Given the description of an element on the screen output the (x, y) to click on. 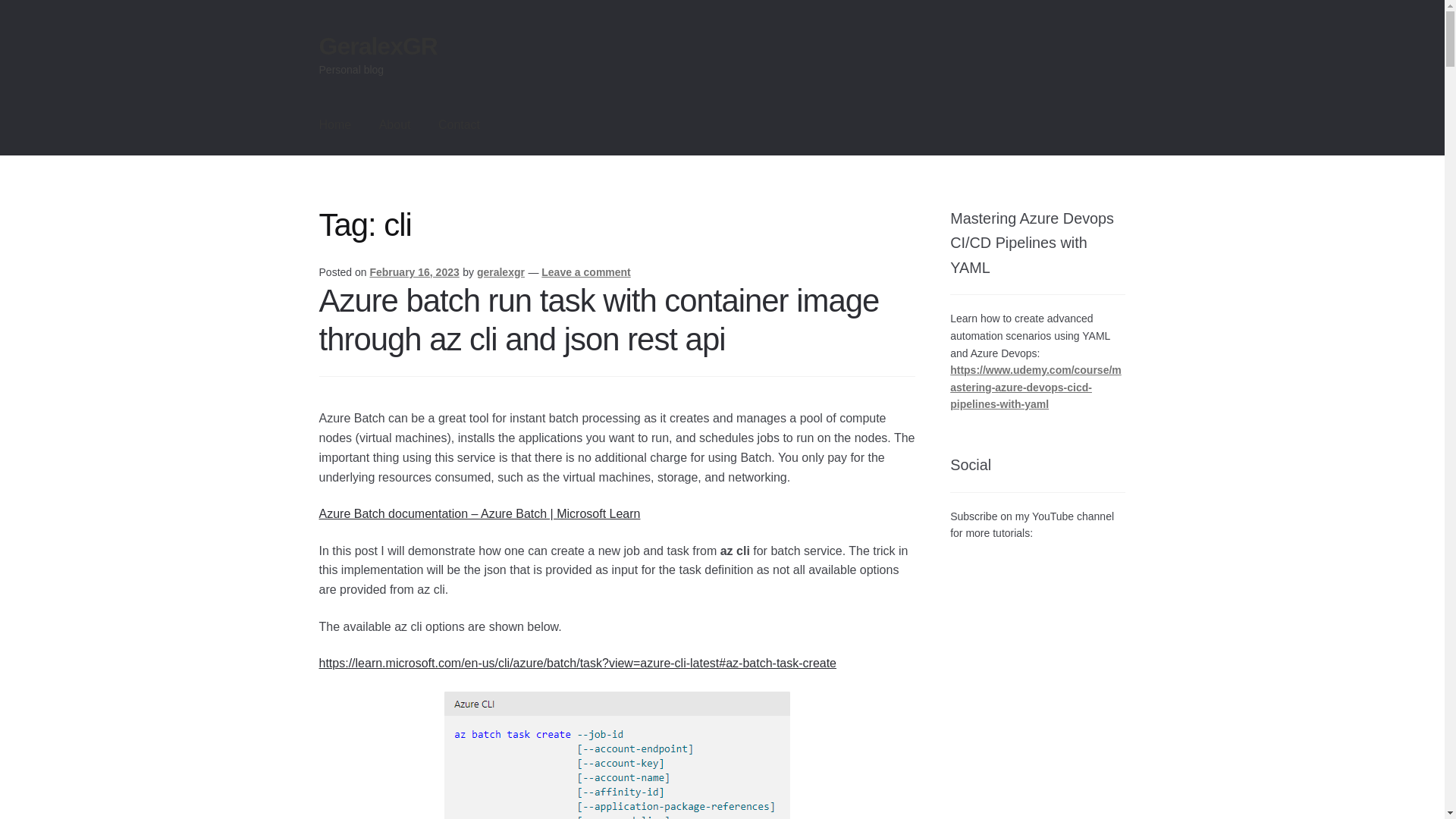
Home (335, 124)
geralexgr (500, 272)
GeralexGR (378, 45)
Contact (459, 124)
About (394, 124)
Leave a comment (585, 272)
February 16, 2023 (413, 272)
